Given the description of an element on the screen output the (x, y) to click on. 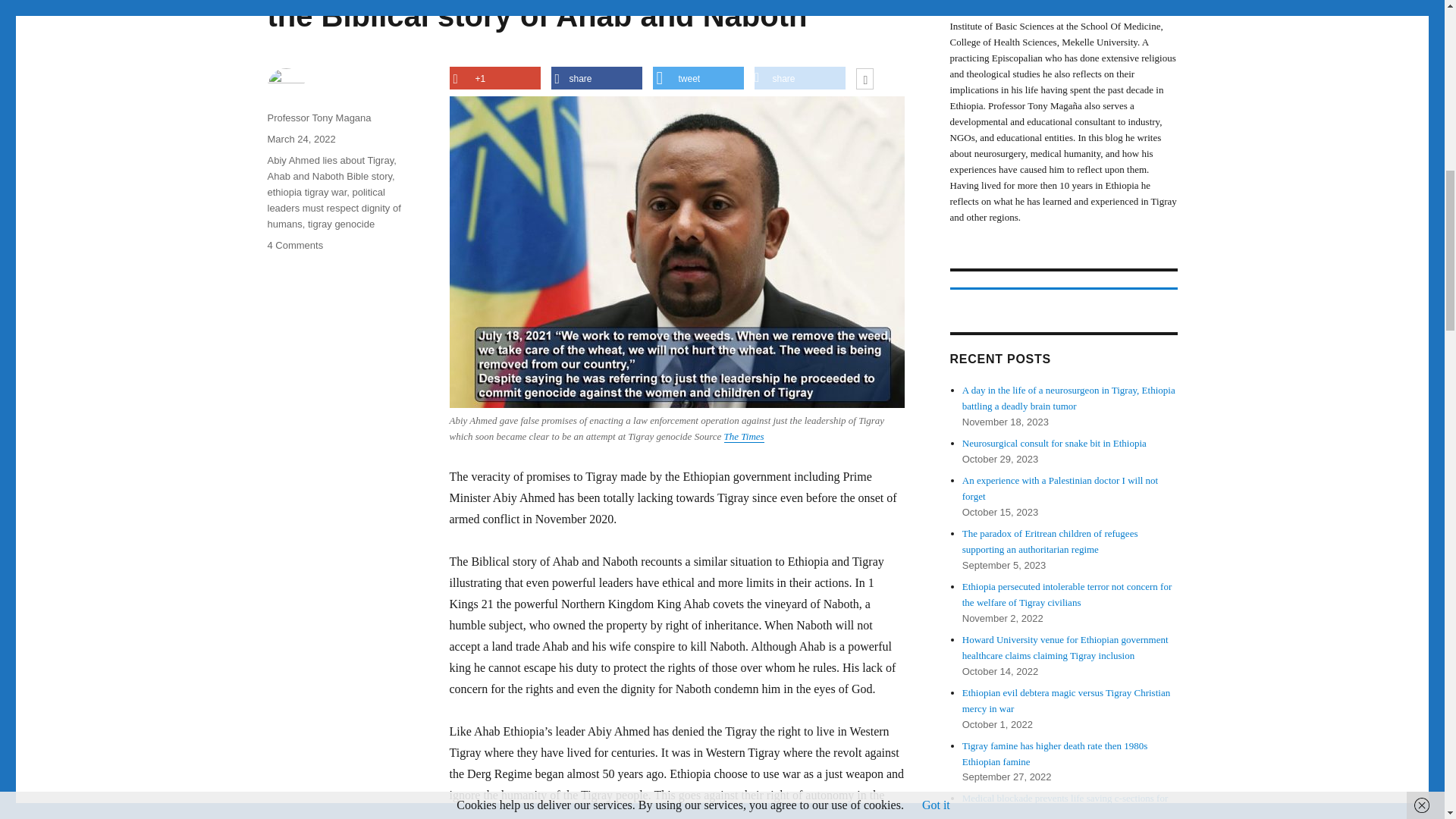
Neurosurgical consult for snake bit in Ethiopia (1054, 442)
March 24, 2022 (300, 138)
An experience with a Palestinian doctor I will not forget (1059, 488)
Share on Reddit (799, 78)
Ahab and Naboth Bible story (328, 175)
tigray genocide (340, 224)
